Given the description of an element on the screen output the (x, y) to click on. 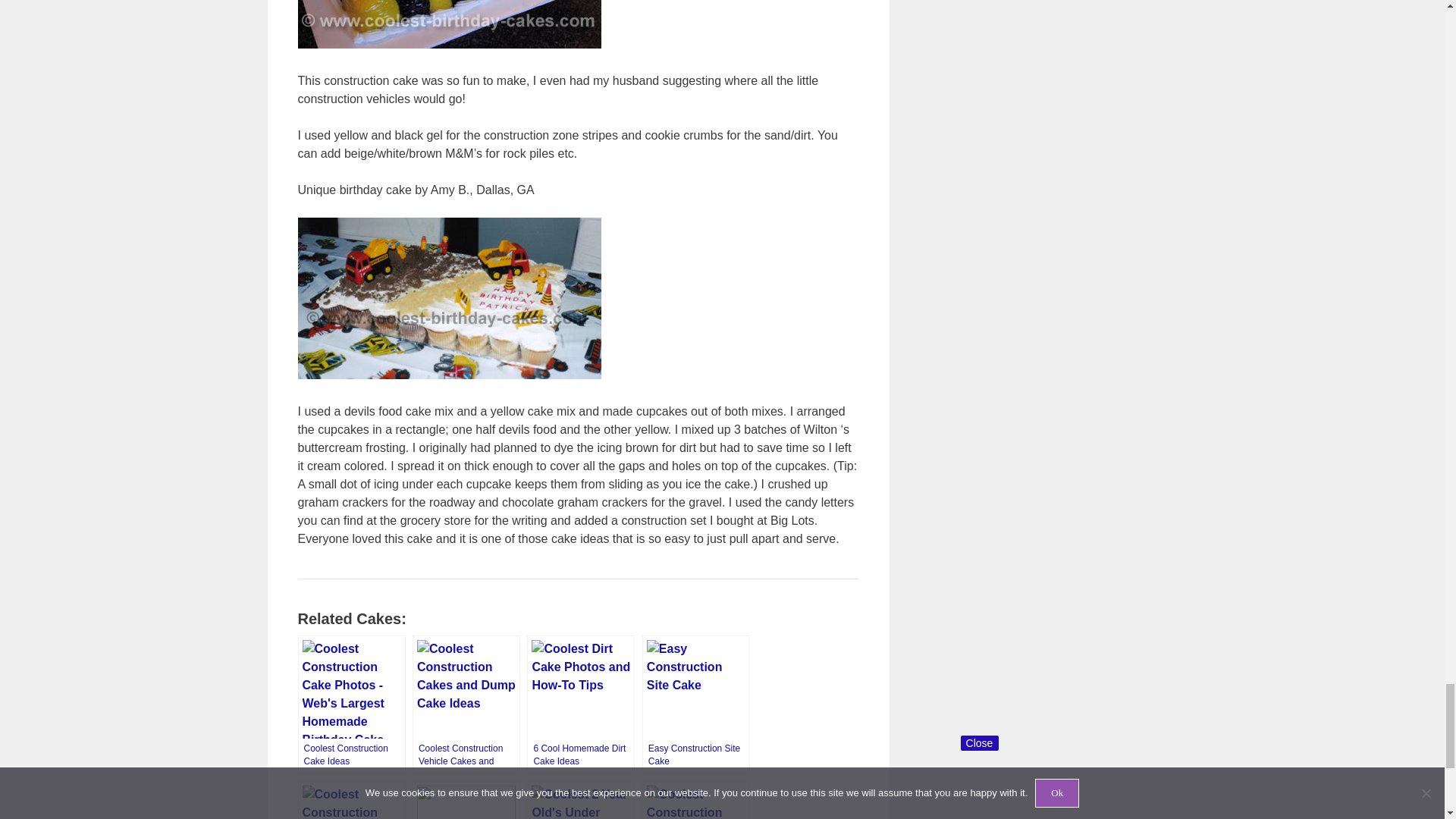
Cool Homemade 3 Tiered Construction Birthday Cake (350, 800)
Coolest Construction Zone Cake (695, 800)
